Given the description of an element on the screen output the (x, y) to click on. 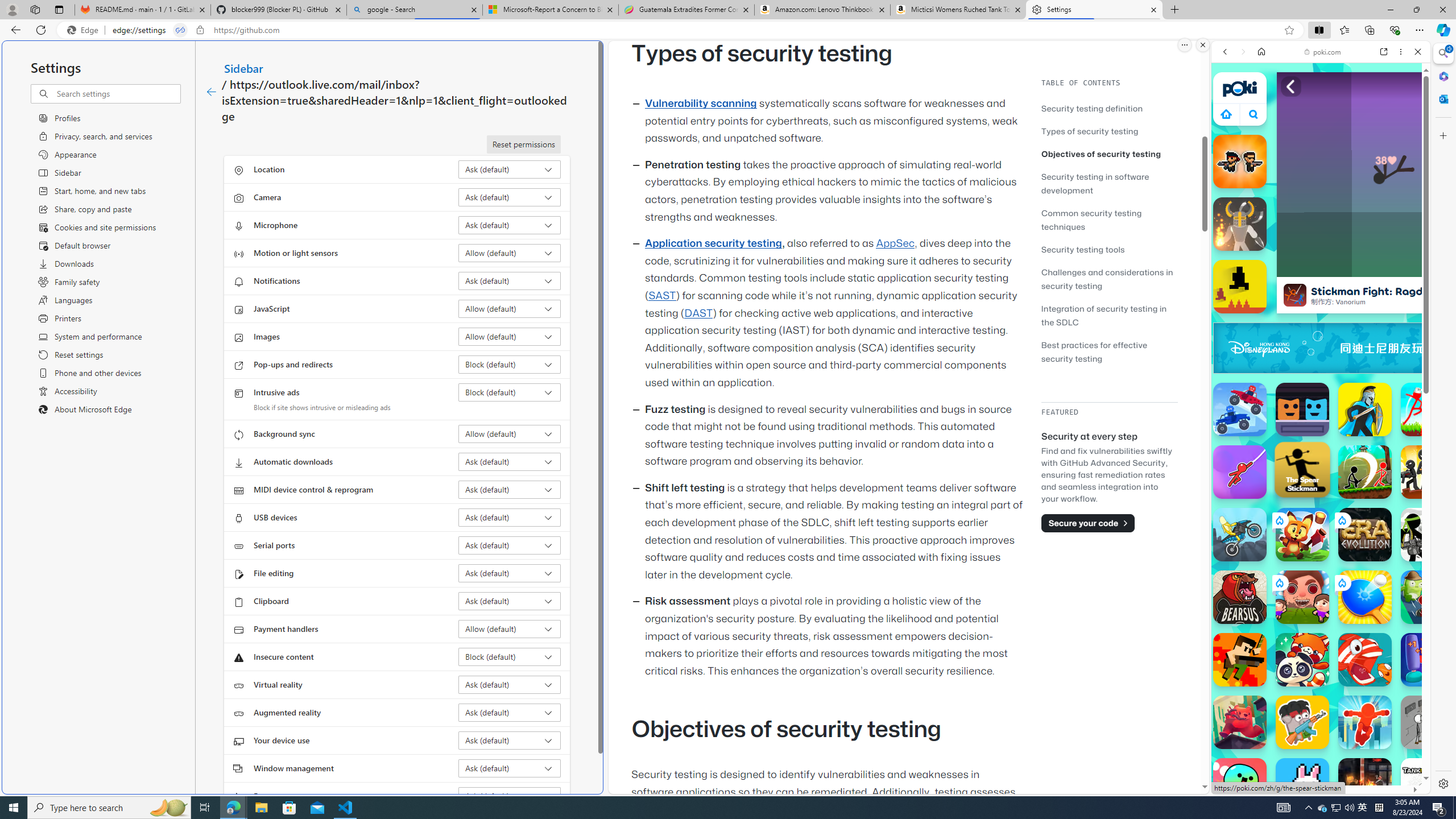
Combat Reloaded Combat Reloaded poki.com (1349, 548)
Stickman Hook Stickman Hook (1239, 471)
Joyrider Joyrider (1239, 534)
Notifications Ask (default) (509, 280)
Poki (1315, 754)
Stickman Fight: Ragdoll (1295, 295)
Bacon May Die (1302, 722)
Crazy Cars (1419, 574)
Search Filter, Search Tools (1350, 129)
Objectives of security testing (1109, 153)
Clipboard Ask (default) (509, 601)
Parkour Race (1364, 722)
